Given the description of an element on the screen output the (x, y) to click on. 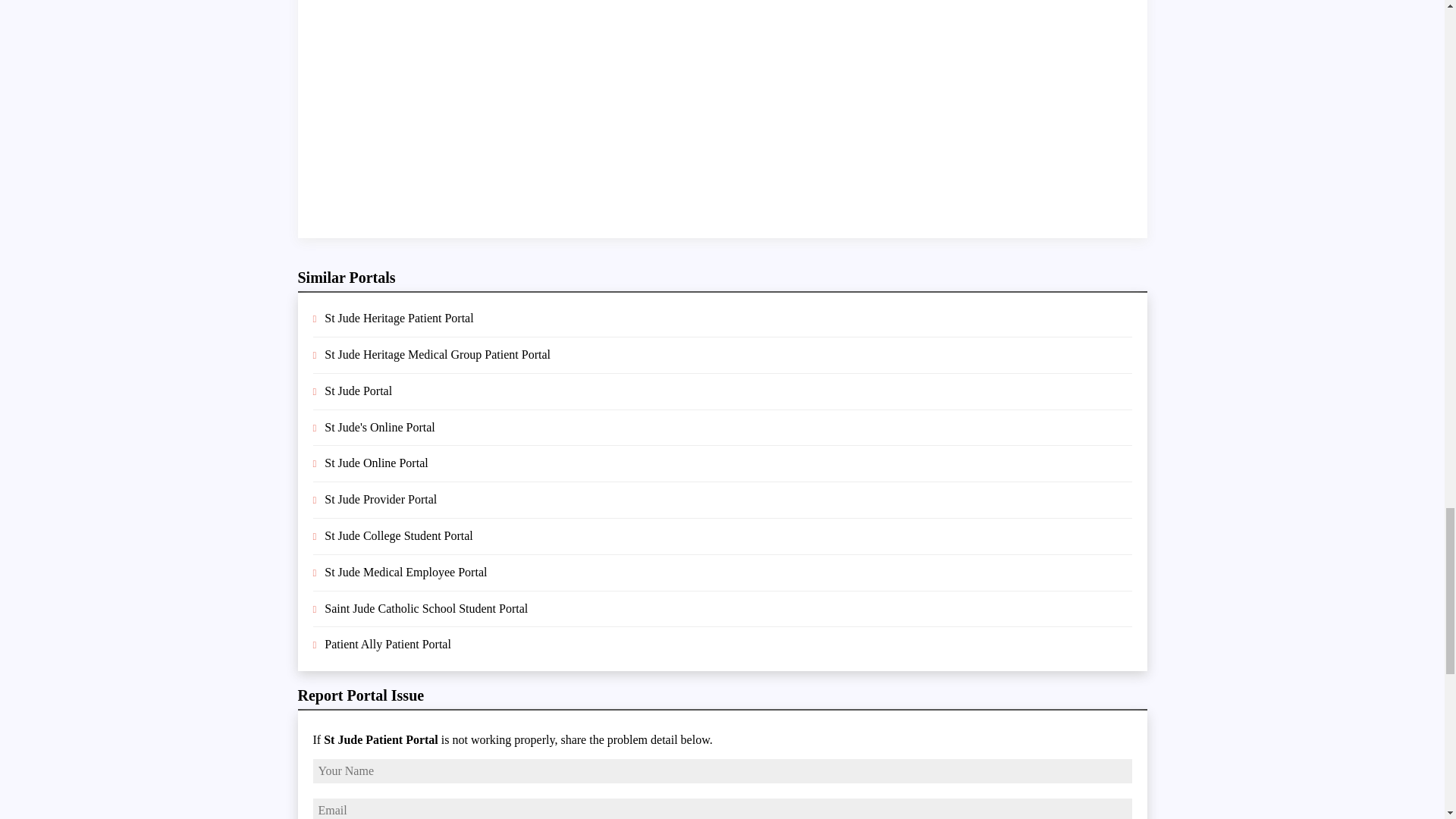
St Jude Online Portal (376, 462)
Saint Jude Catholic School Student Portal (425, 608)
St Jude Medical Employee Portal (405, 571)
Patient Ally Patient Portal (387, 644)
St Jude's Online Portal (379, 427)
St Jude Heritage Patient Portal (398, 318)
St Jude Heritage Medical Group Patient Portal (437, 354)
St Jude College Student Portal (398, 535)
St Jude Provider Portal (380, 499)
St Jude Portal (357, 390)
